Given the description of an element on the screen output the (x, y) to click on. 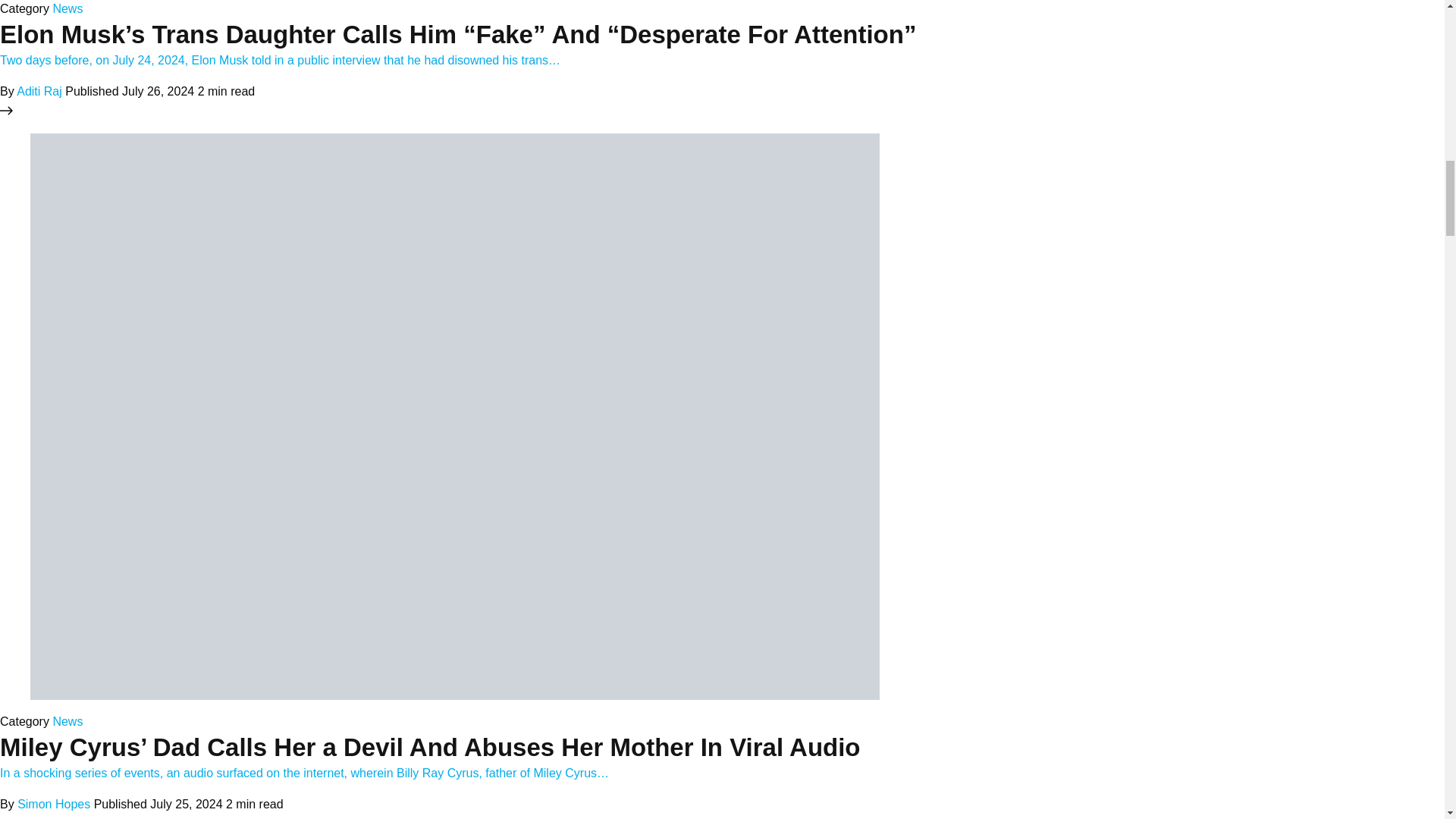
News (67, 8)
Simon Hopes (53, 803)
News (67, 721)
Aditi Raj (39, 91)
